Given the description of an element on the screen output the (x, y) to click on. 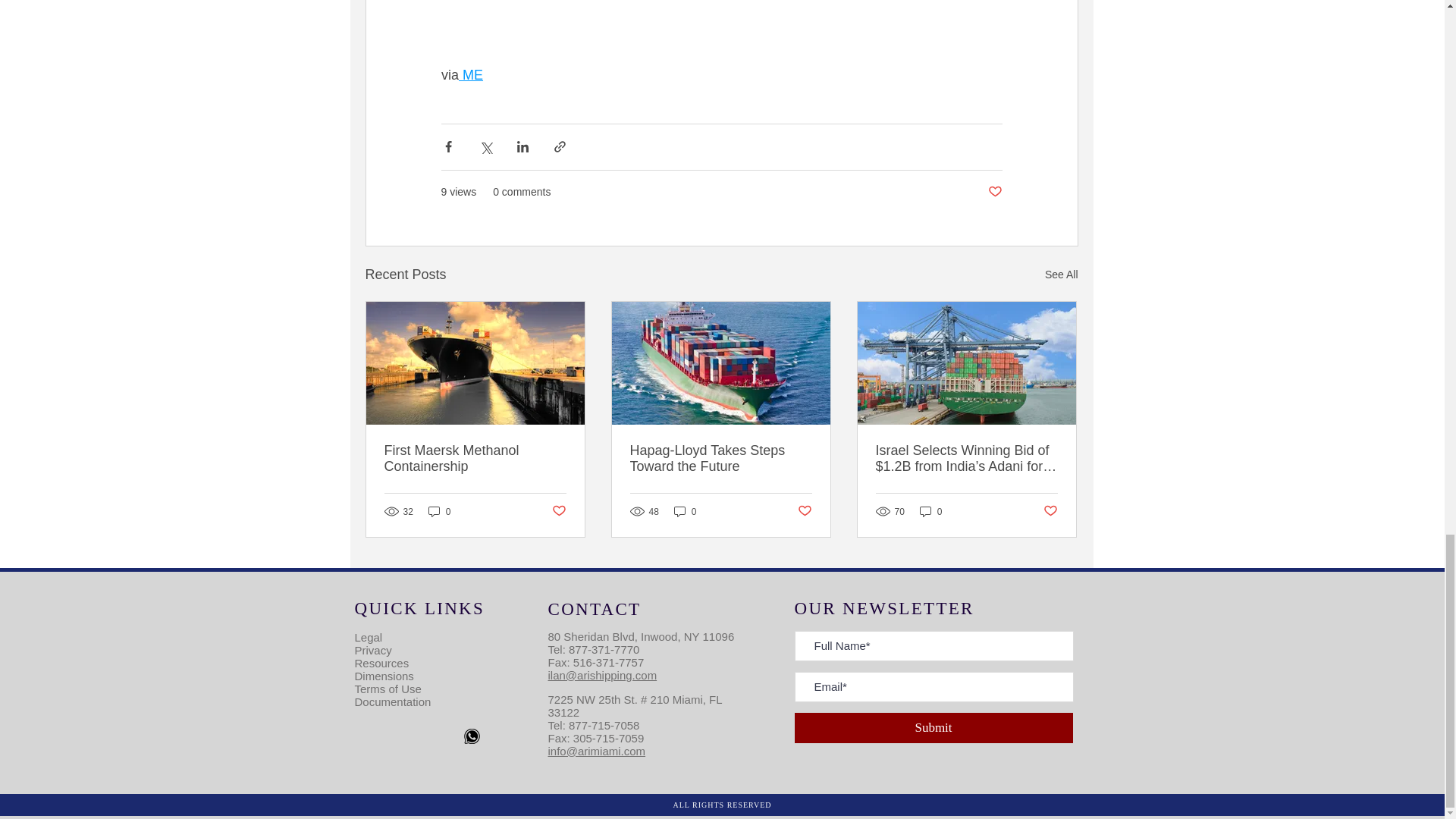
 ME (470, 74)
Post not marked as liked (994, 191)
0 (439, 511)
Post not marked as liked (558, 511)
First Maersk Methanol Containership (475, 459)
See All (1061, 274)
